Given the description of an element on the screen output the (x, y) to click on. 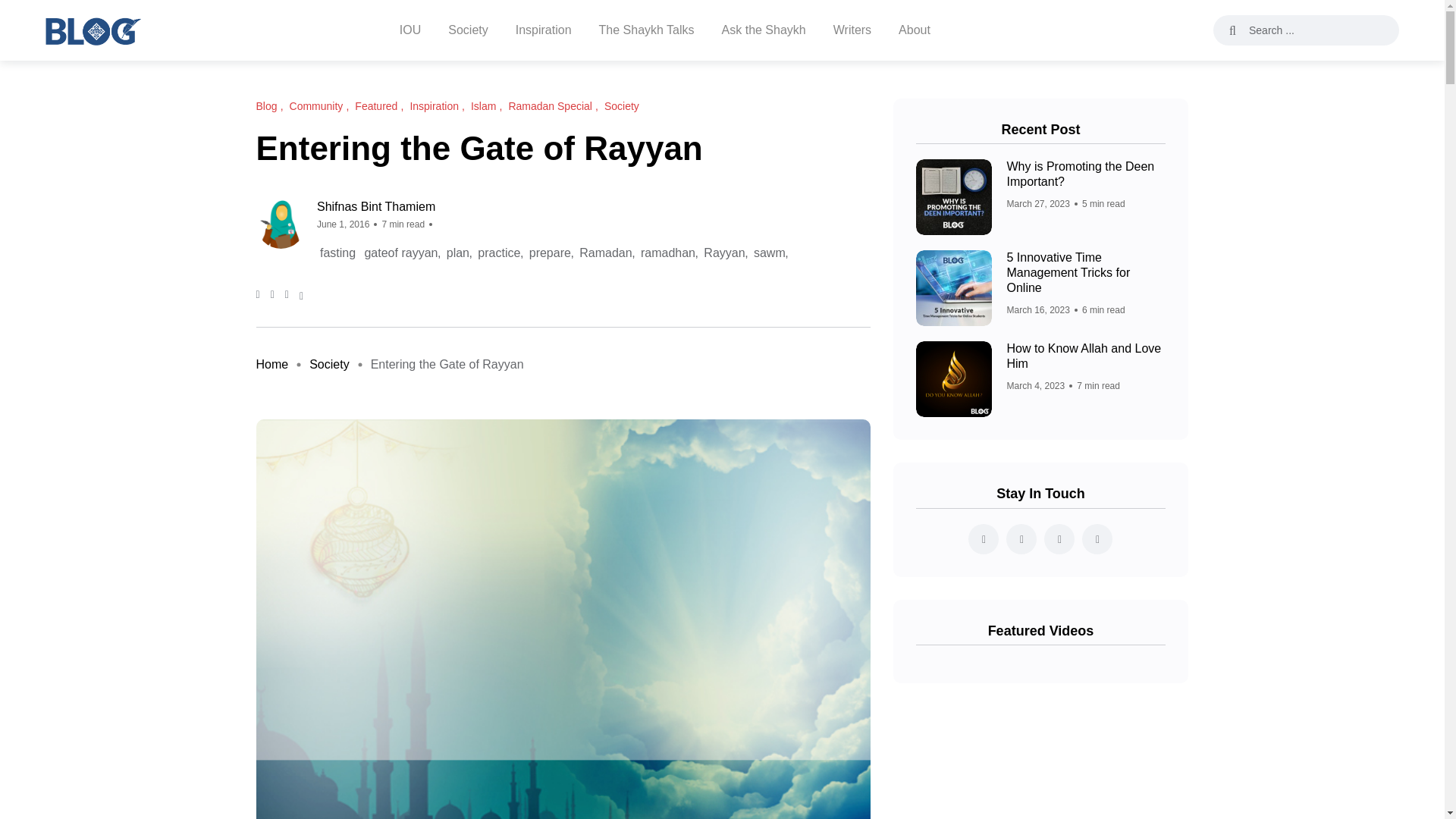
Inspiration (543, 30)
Ask the Shaykh (764, 30)
IOU Blog (93, 30)
The Shaykh Talks (646, 30)
Home (272, 364)
Entering the Gate of Rayyan (447, 364)
